Given the description of an element on the screen output the (x, y) to click on. 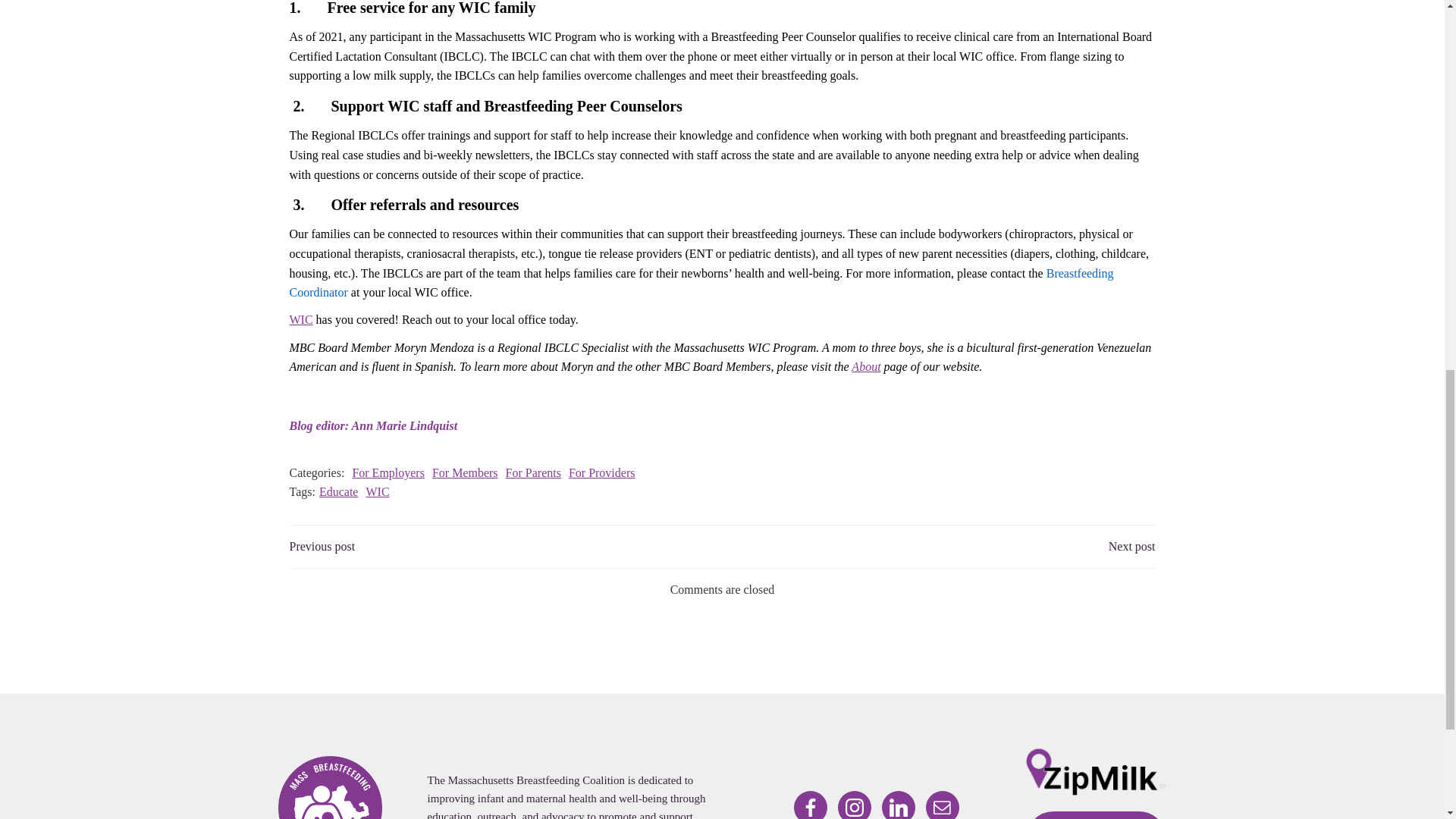
Facebook (810, 805)
Instagram (854, 805)
educate Tag (338, 492)
LinkedIn (898, 805)
Email MBC (942, 805)
WIC Tag (376, 492)
